Given the description of an element on the screen output the (x, y) to click on. 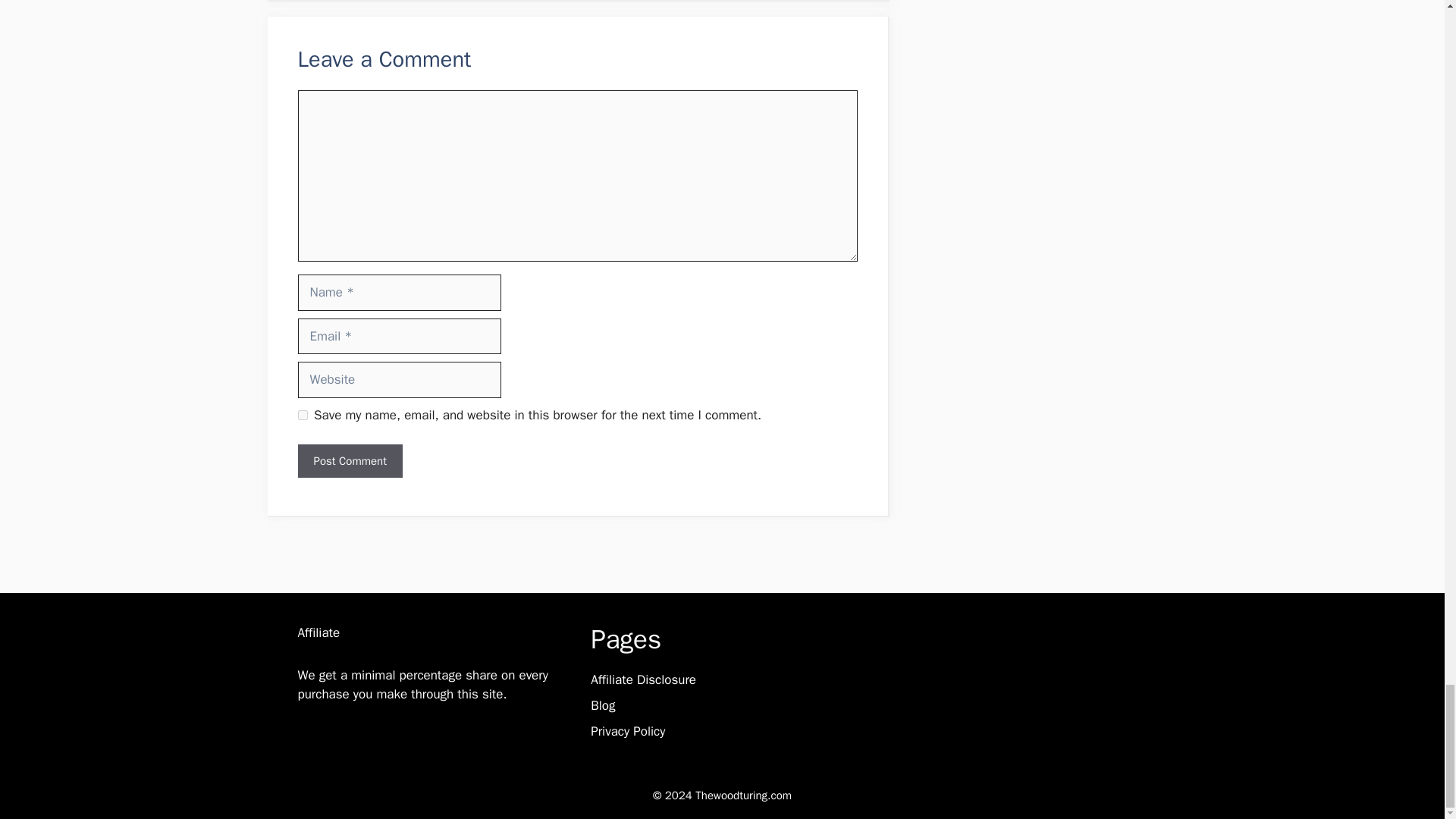
yes (302, 415)
Post Comment (349, 461)
